Given the description of an element on the screen output the (x, y) to click on. 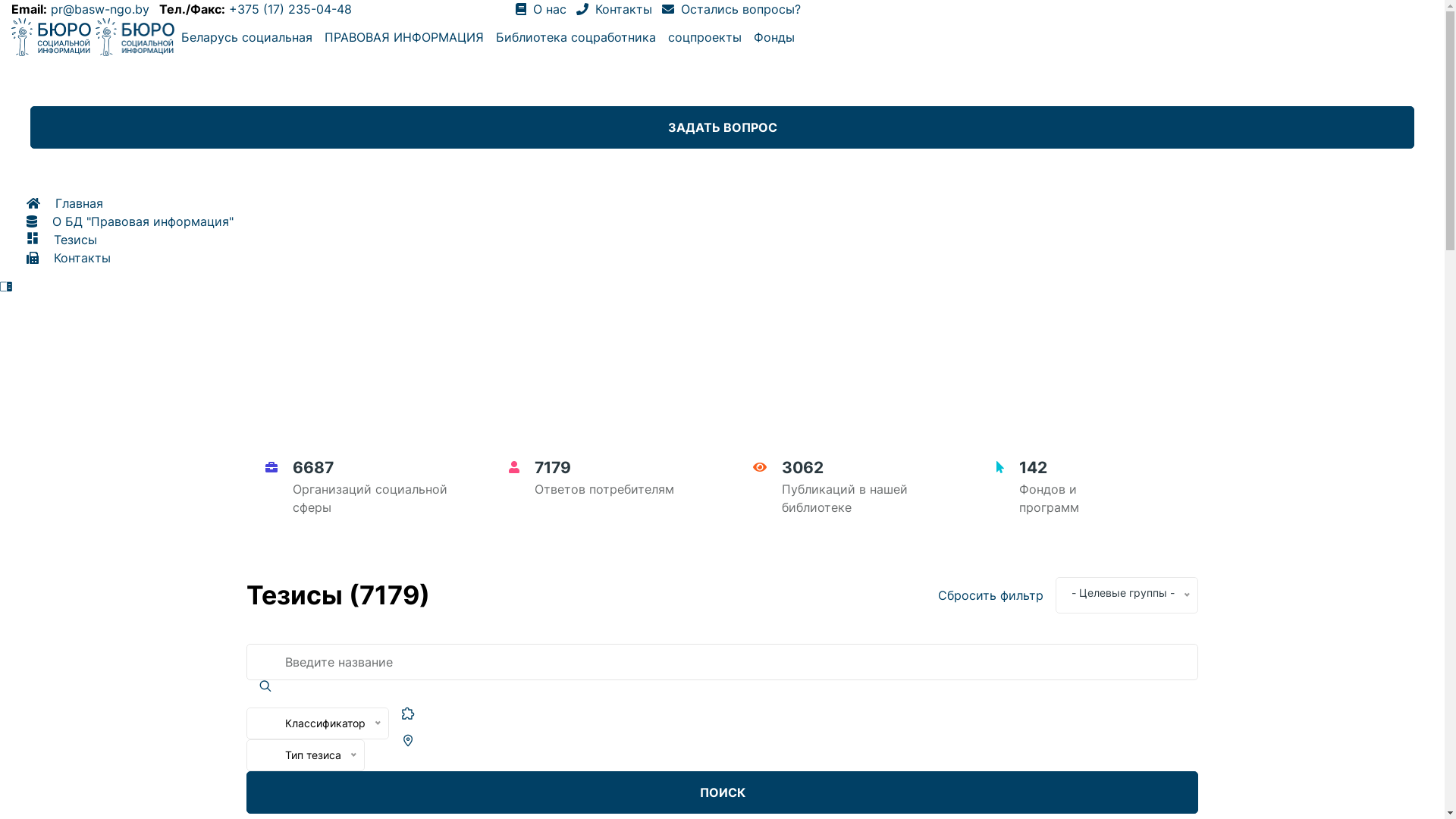
+375 (17) 235-04-48 Element type: text (290, 8)
pr@basw-ngo.by Element type: text (99, 8)
